Given the description of an element on the screen output the (x, y) to click on. 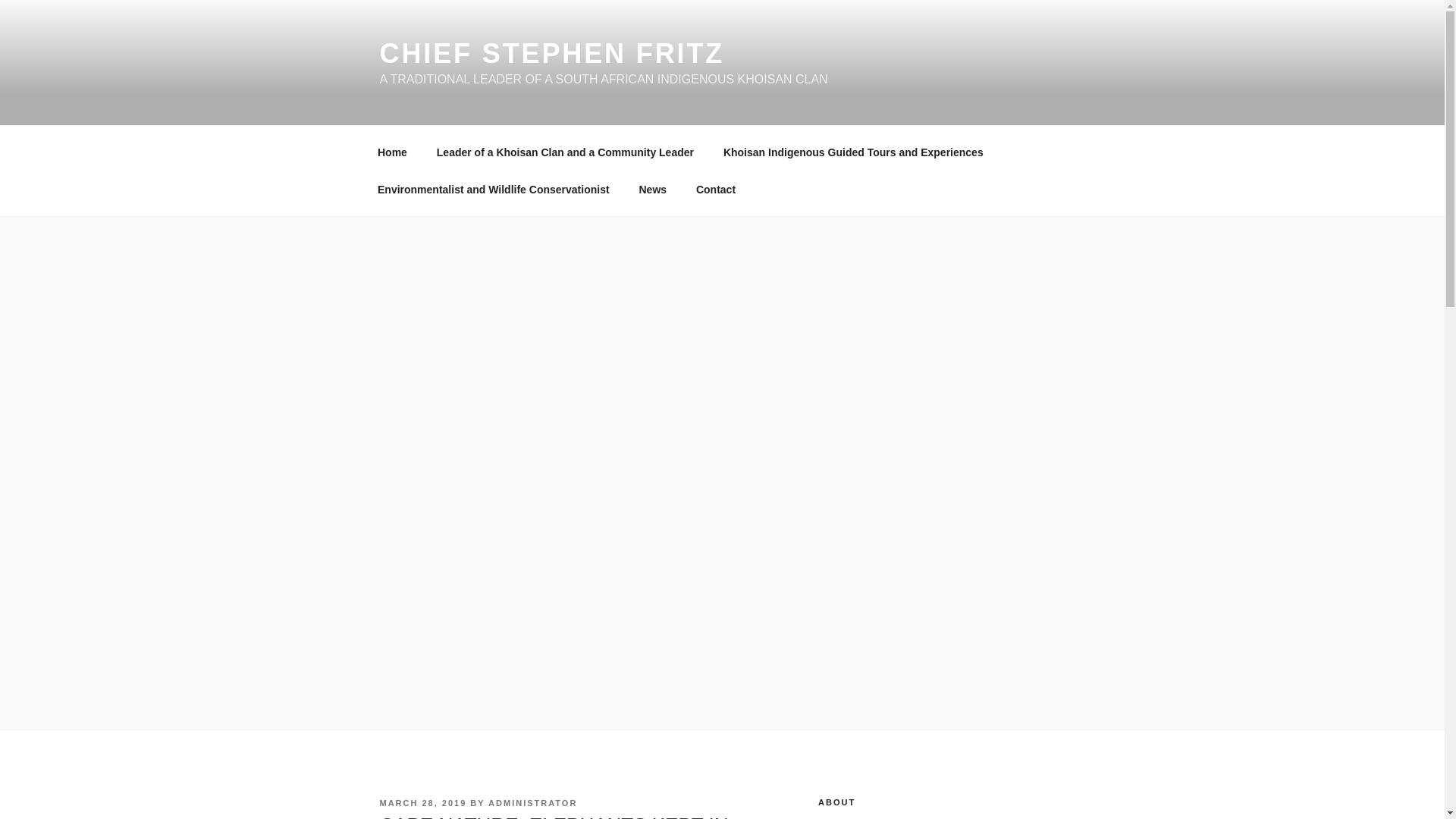
CHIEF STEPHEN FRITZ (550, 52)
Khoisan Indigenous Guided Tours and Experiences (852, 151)
Contact (715, 189)
Leader of a Khoisan Clan and a Community Leader (564, 151)
MARCH 28, 2019 (421, 802)
Environmentalist and Wildlife Conservationist (493, 189)
ADMINISTRATOR (531, 802)
News (652, 189)
Home (392, 151)
